Given the description of an element on the screen output the (x, y) to click on. 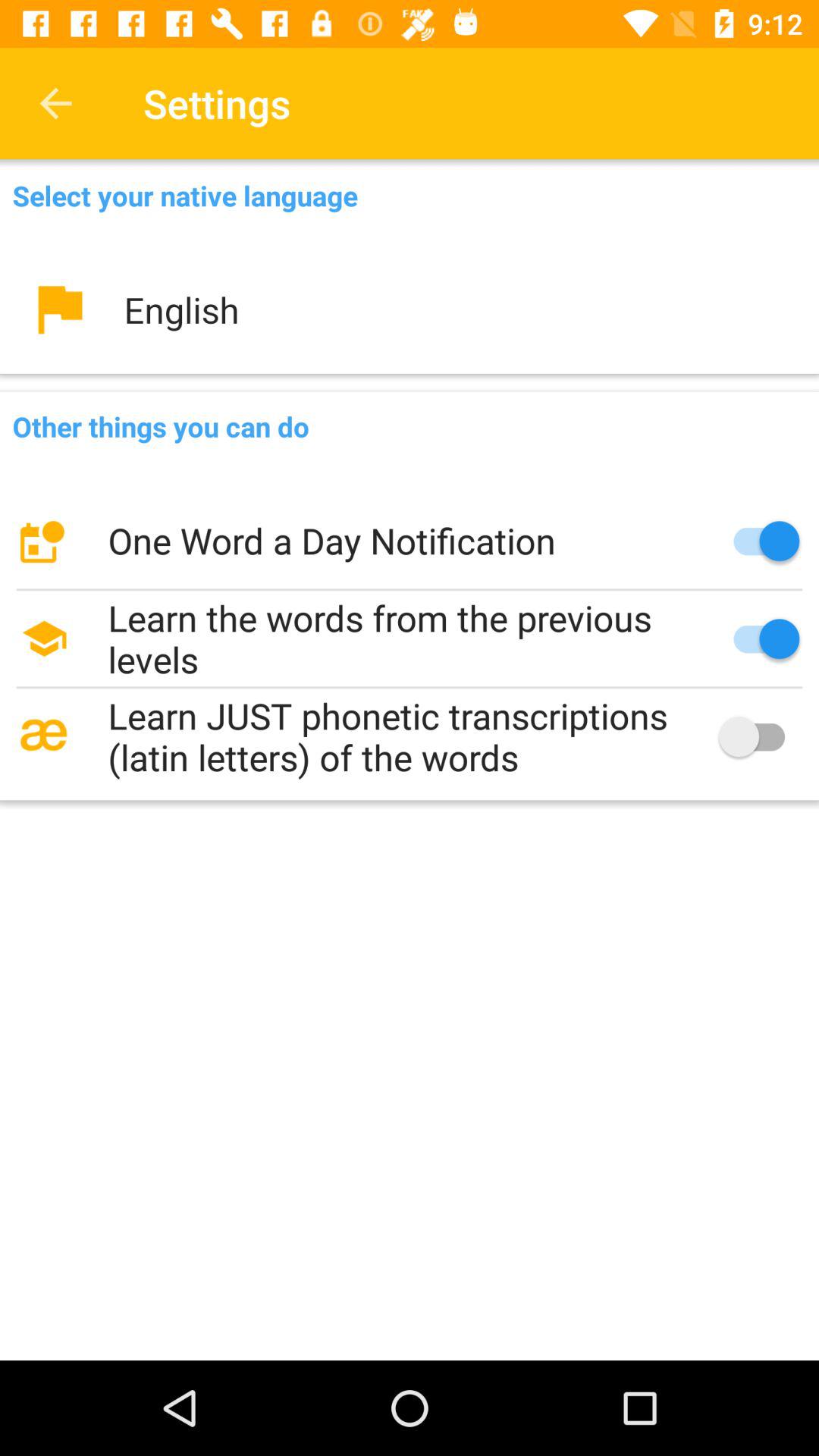
open the english (409, 309)
